Given the description of an element on the screen output the (x, y) to click on. 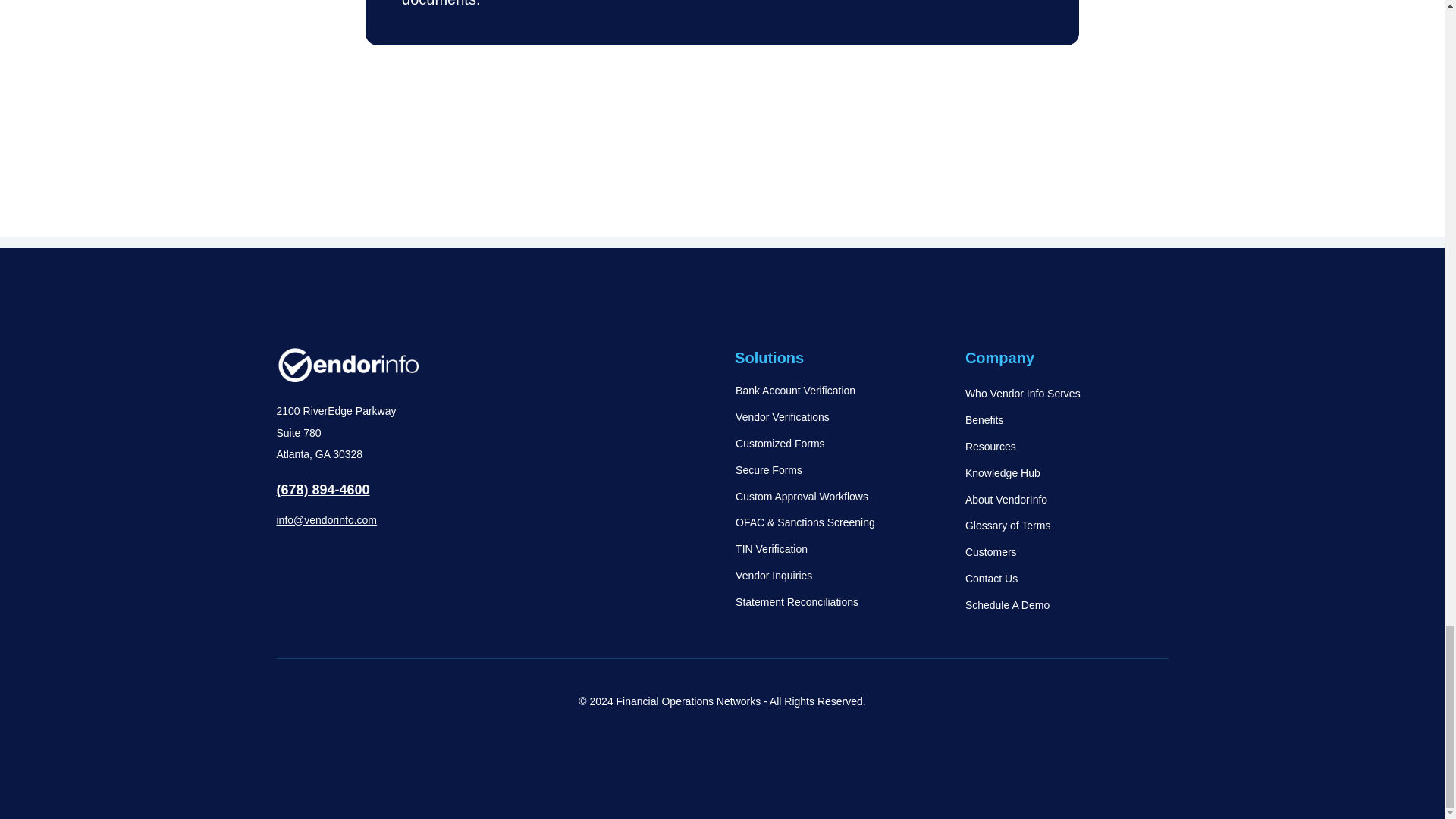
VendorInfo-white (346, 364)
